Given the description of an element on the screen output the (x, y) to click on. 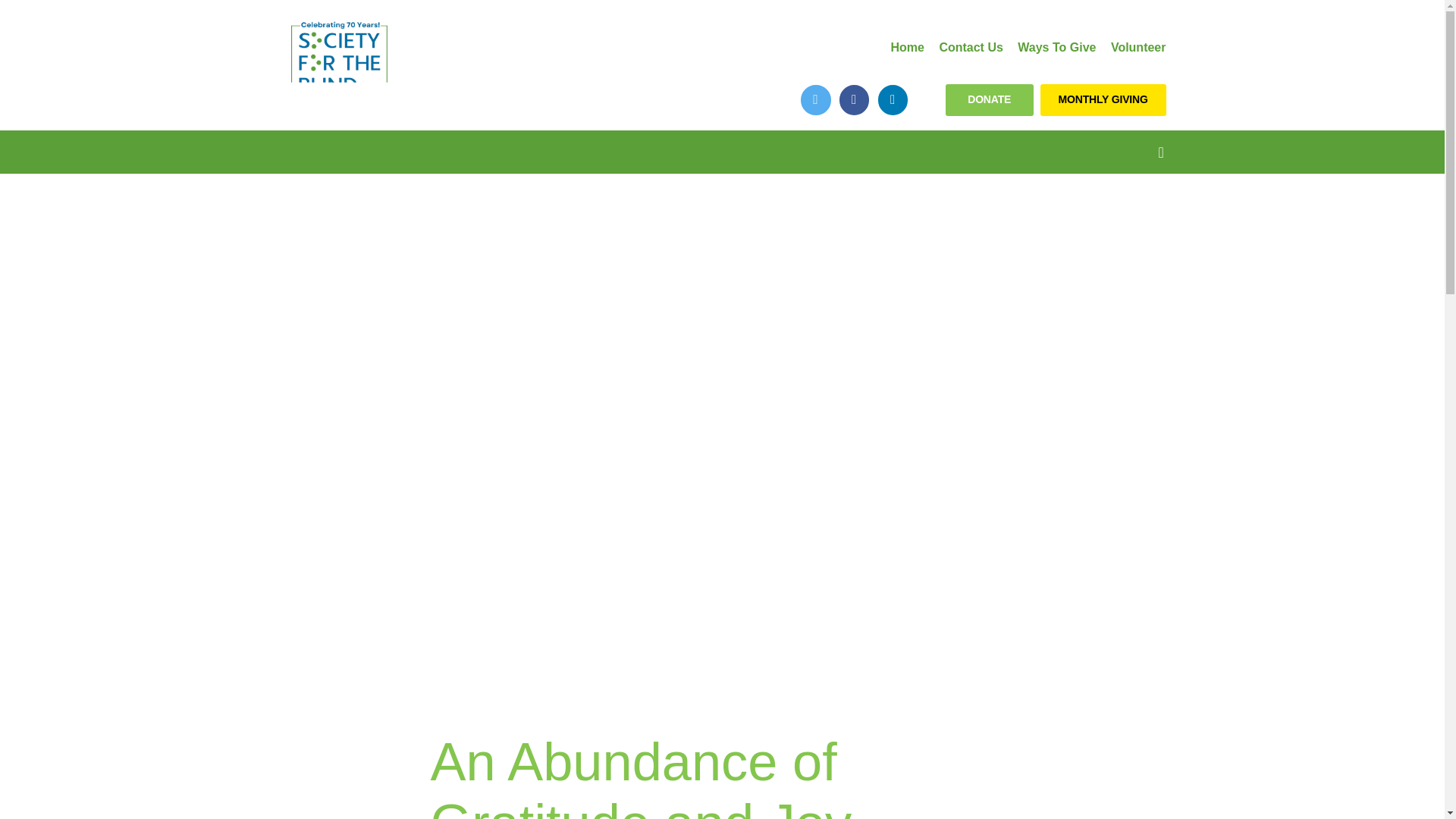
DONATE (988, 99)
Ways To Give (1056, 47)
Contact Us (971, 47)
Home (906, 47)
Volunteer (1138, 47)
MONTHLY GIVING (1103, 99)
